Given the description of an element on the screen output the (x, y) to click on. 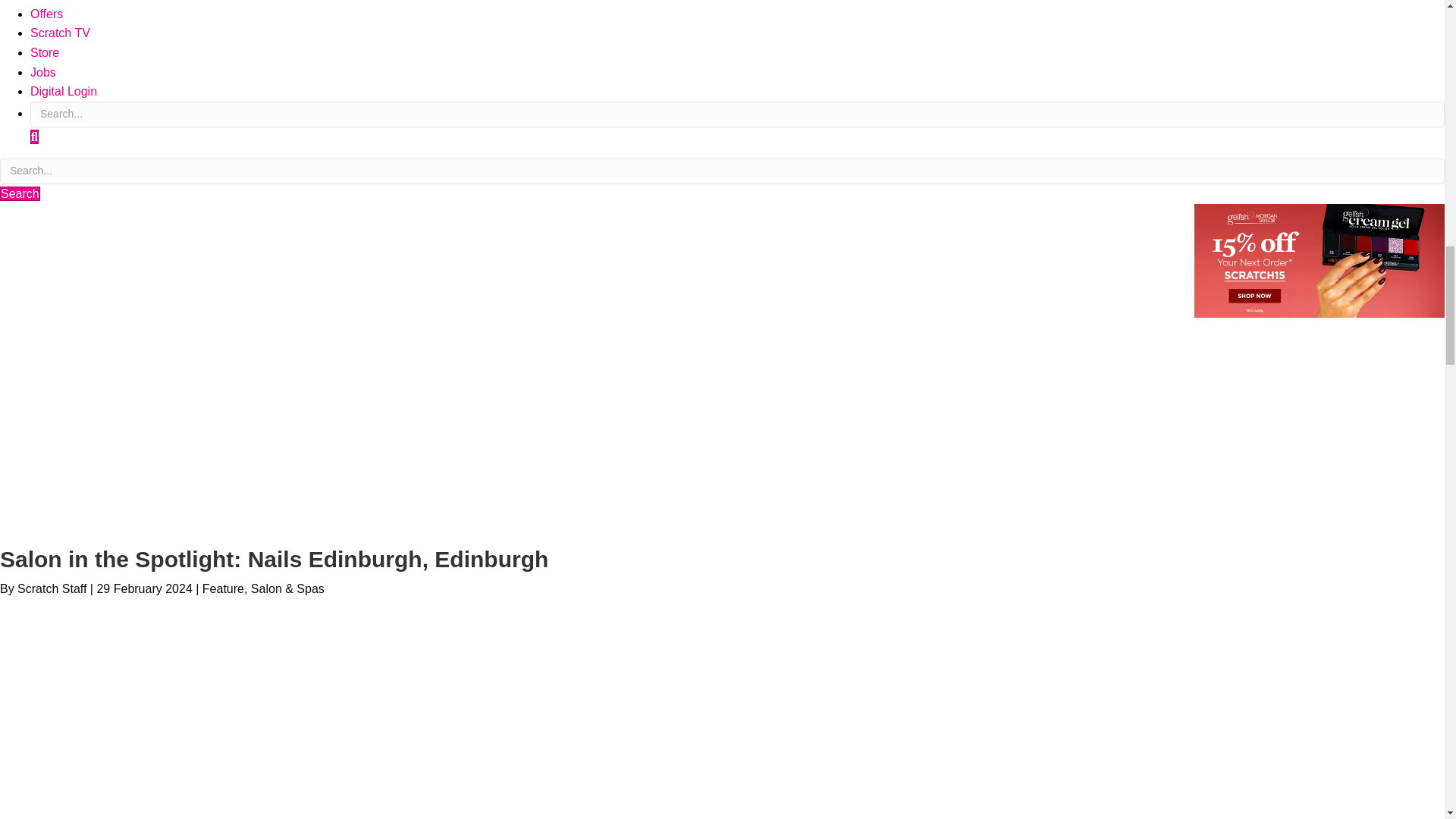
SCRATCH Logo author (113, 431)
Offers (46, 13)
